Given the description of an element on the screen output the (x, y) to click on. 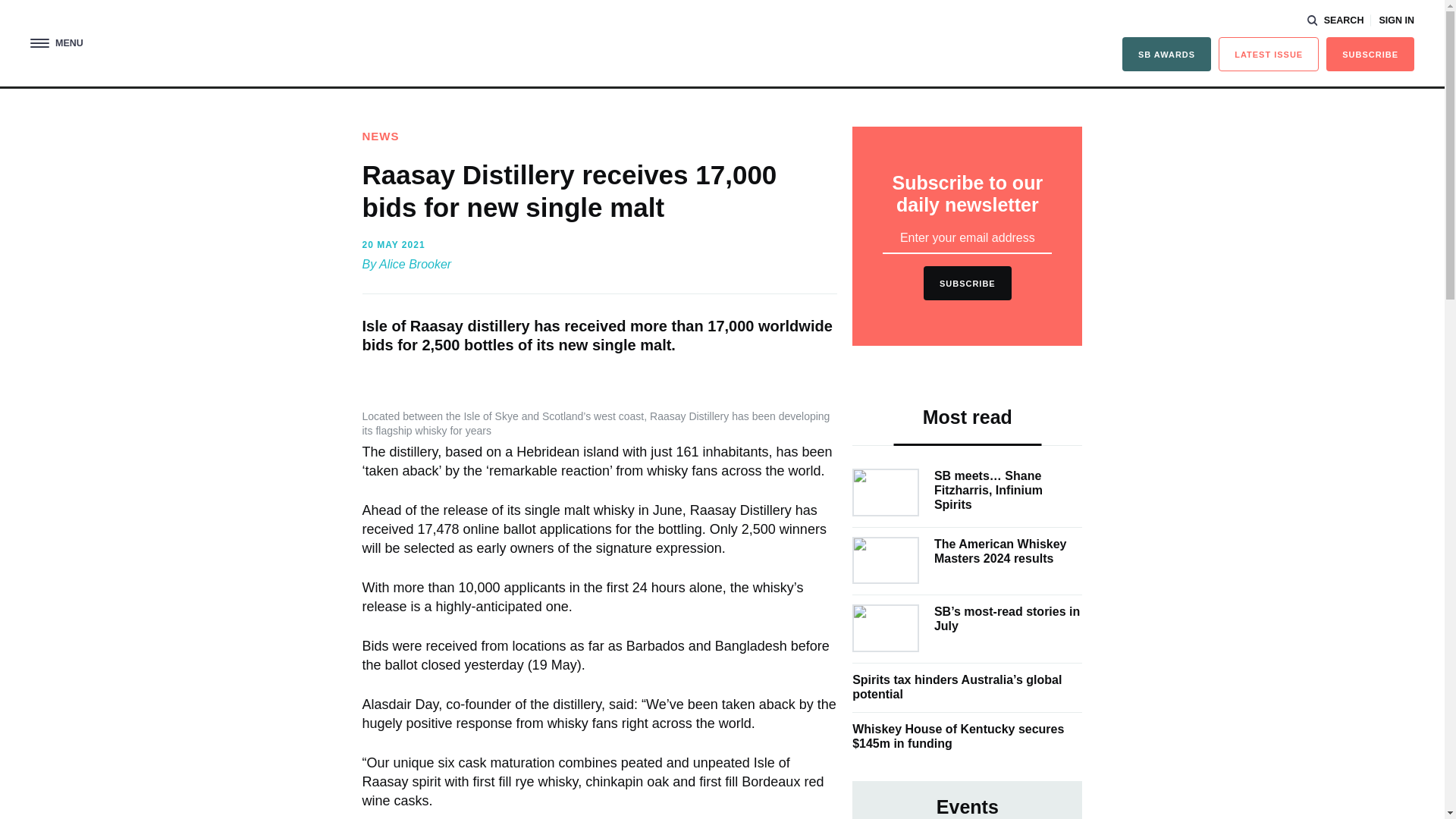
The Spirits Business (722, 46)
SIGN IN (1395, 20)
LATEST ISSUE (1268, 53)
SUBSCRIBE (1369, 53)
SB AWARDS (1166, 53)
